Given the description of an element on the screen output the (x, y) to click on. 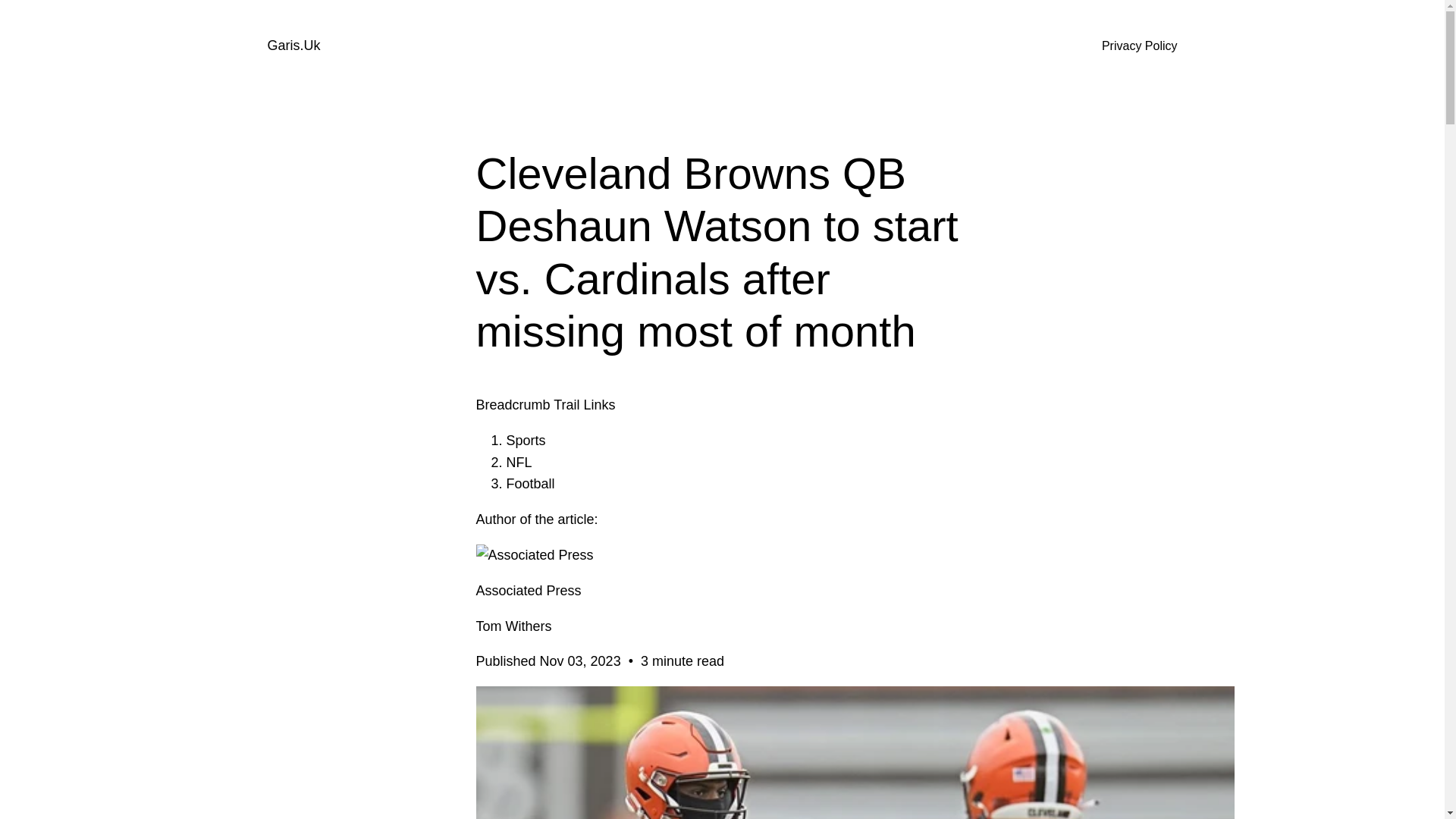
Garis.Uk (293, 45)
Privacy Policy (1139, 46)
